Given the description of an element on the screen output the (x, y) to click on. 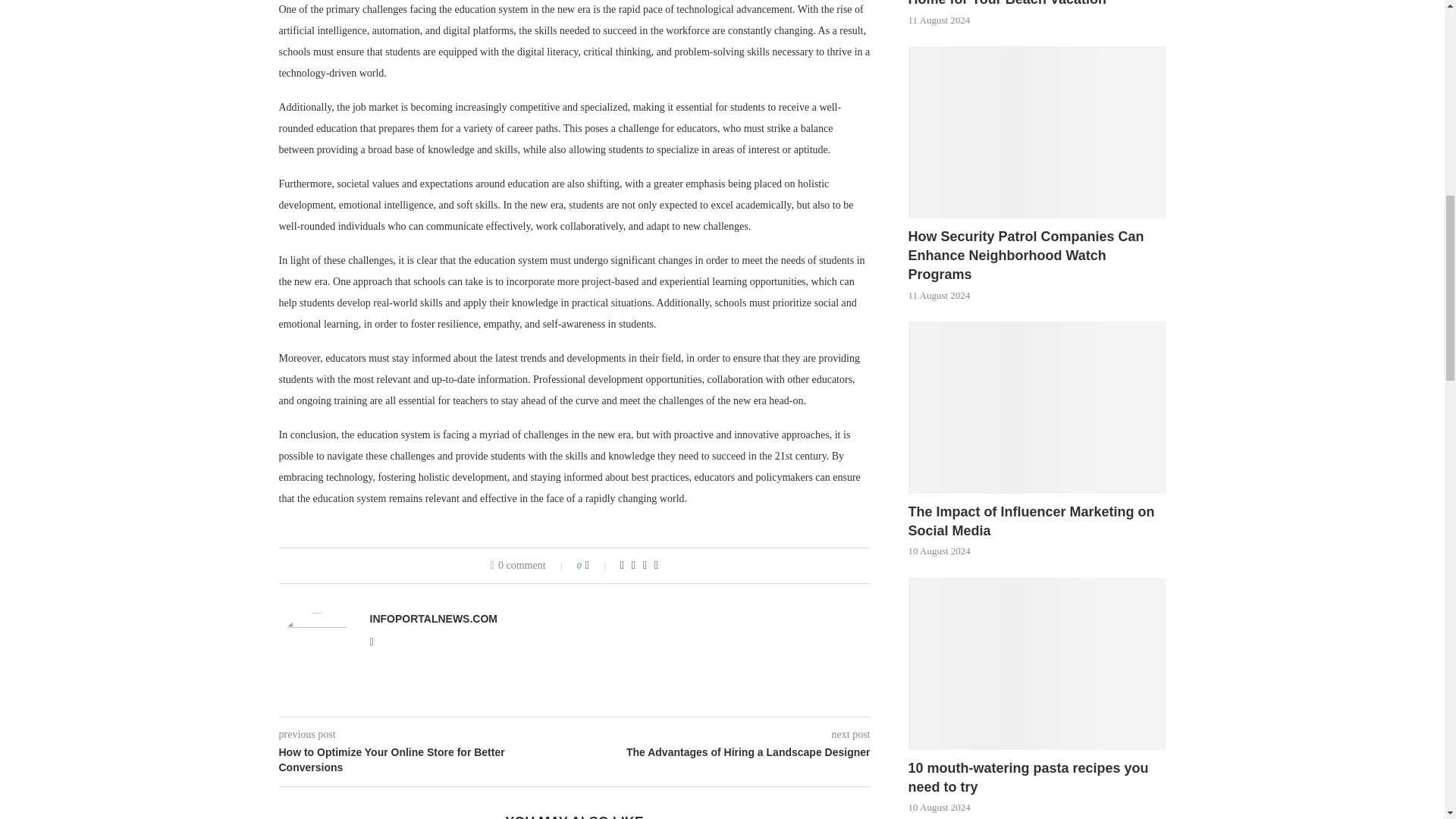
Author infoportalnews.com (433, 618)
Like (597, 565)
INFOPORTALNEWS.COM (433, 618)
How to Optimize Your Online Store for Better Conversions (427, 759)
